Given the description of an element on the screen output the (x, y) to click on. 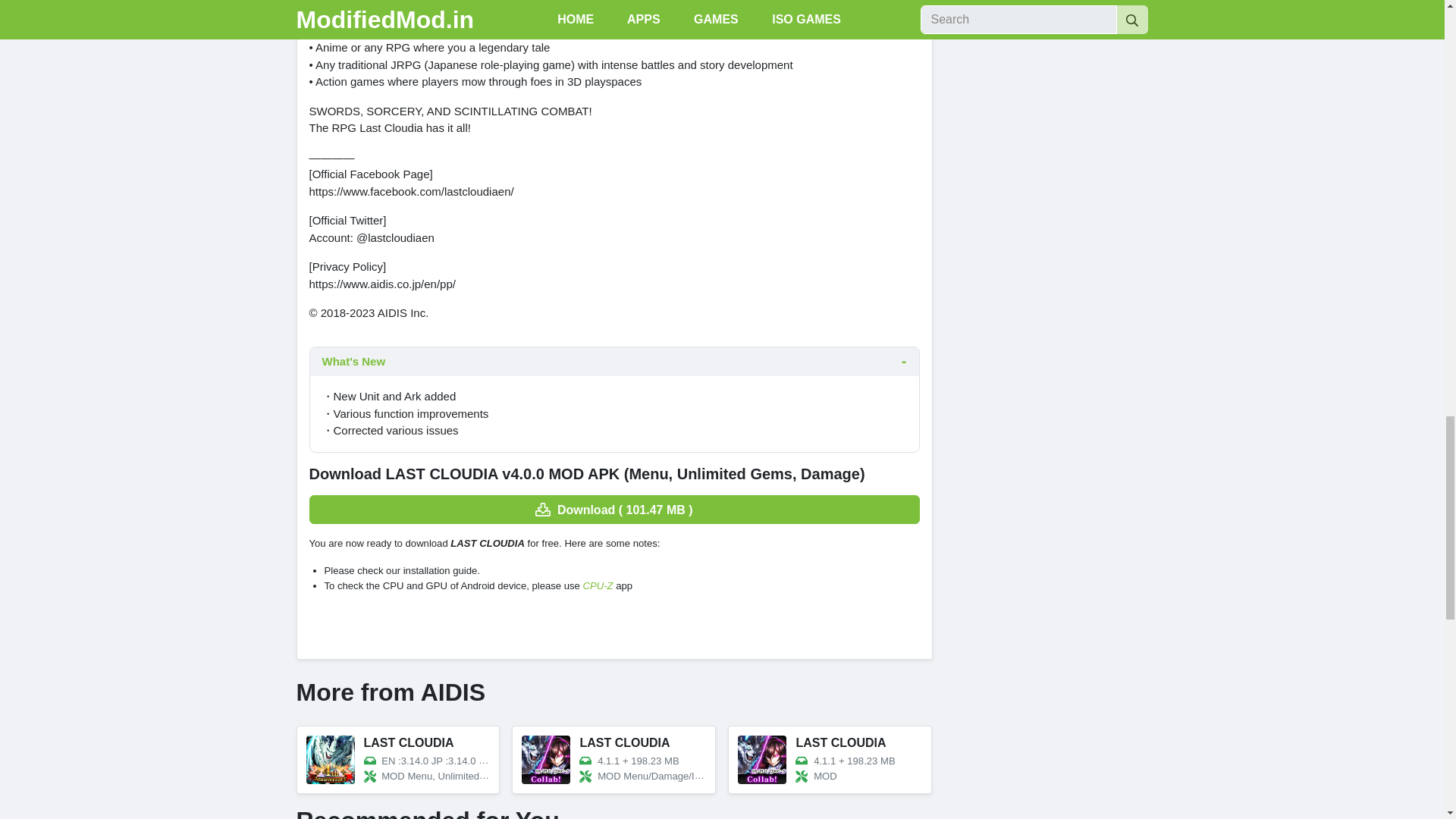
What's New (613, 361)
CPU-Z (597, 585)
